Given the description of an element on the screen output the (x, y) to click on. 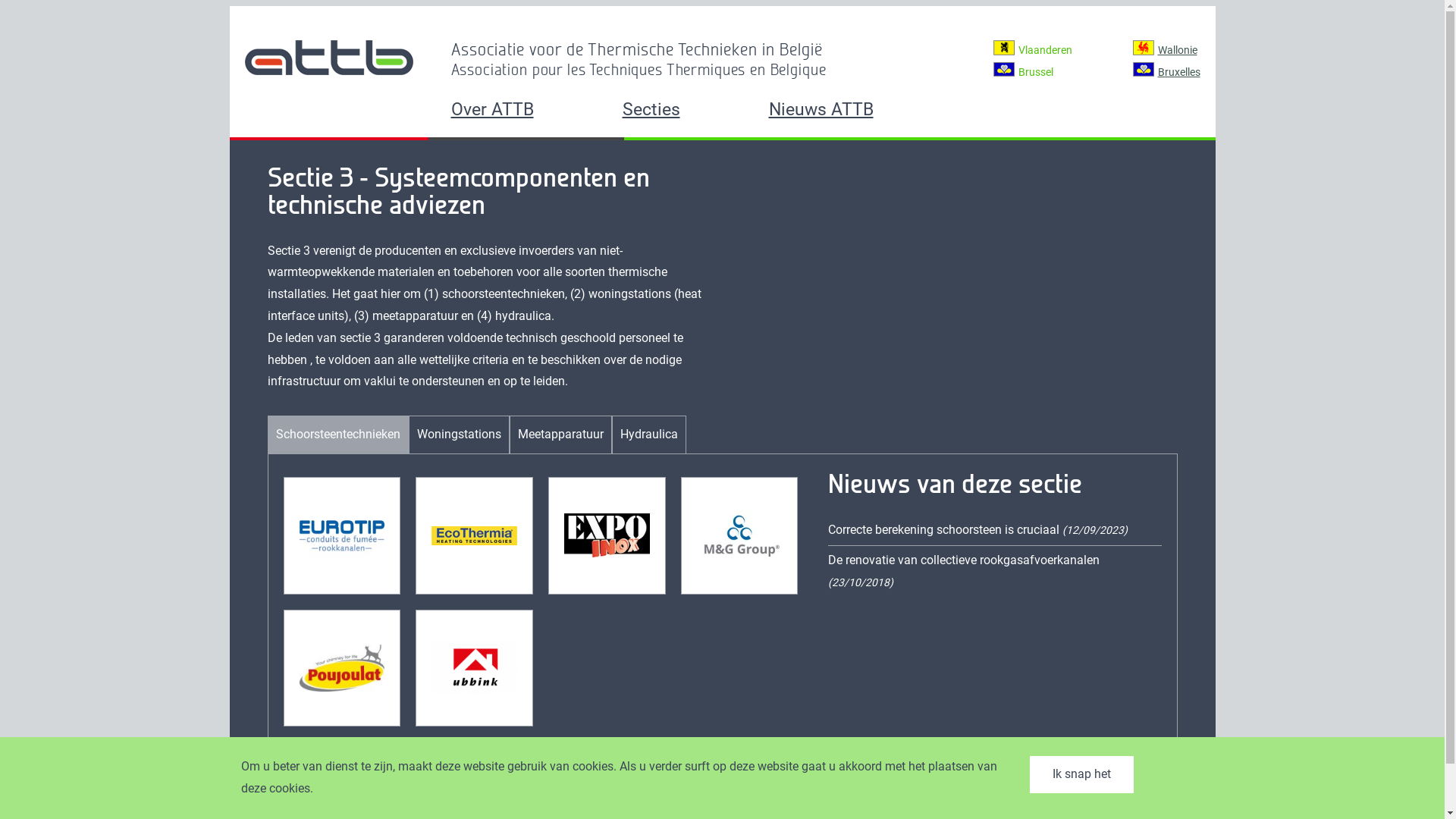
Nieuws ATTB Element type: text (845, 110)
Meetapparatuur Element type: text (559, 434)
Schoorsteentechnieken Element type: text (337, 434)
Bruxelles Element type: text (1178, 71)
UBBINK Element type: hover (474, 668)
Brussel Element type: text (1034, 73)
Over ATTB Element type: text (517, 110)
Secties Element type: text (676, 110)
Woningstations Element type: text (458, 434)
Vlaanderen Element type: text (1044, 51)
Sitemap Element type: text (1179, 804)
Wallonie Element type: text (1176, 49)
M&GGroup Element type: hover (739, 535)
Ik snap het Element type: text (1081, 774)
Correcte berekening schoorsteen is cruciaal (12/09/2023) Element type: text (977, 529)
Ecothermia Element type: hover (474, 536)
Hydraulica Element type: text (648, 434)
Eurotip schoorstenen Element type: hover (341, 535)
Privacybeleid Element type: text (1104, 804)
POUJOULAT Belux Element type: hover (341, 667)
EGEDA Element type: hover (606, 535)
Gebruiksvoorwaarden Element type: text (989, 804)
